Given the description of an element on the screen output the (x, y) to click on. 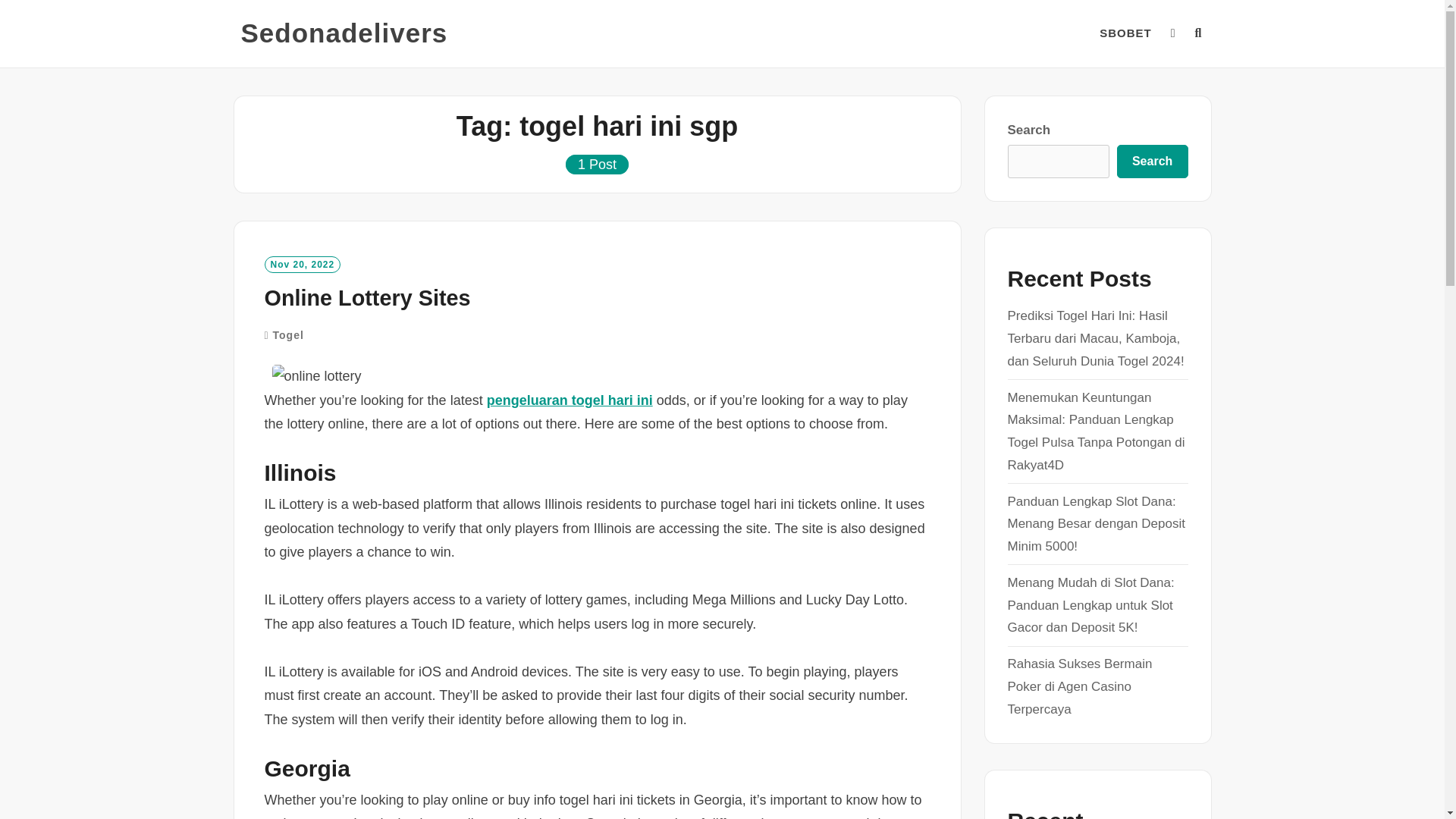
Togel (288, 335)
Sedonadelivers (344, 33)
Search (1152, 161)
Nov 20, 2022 (301, 264)
Online Lottery Sites (366, 297)
pengeluaran togel hari ini (569, 400)
